Given the description of an element on the screen output the (x, y) to click on. 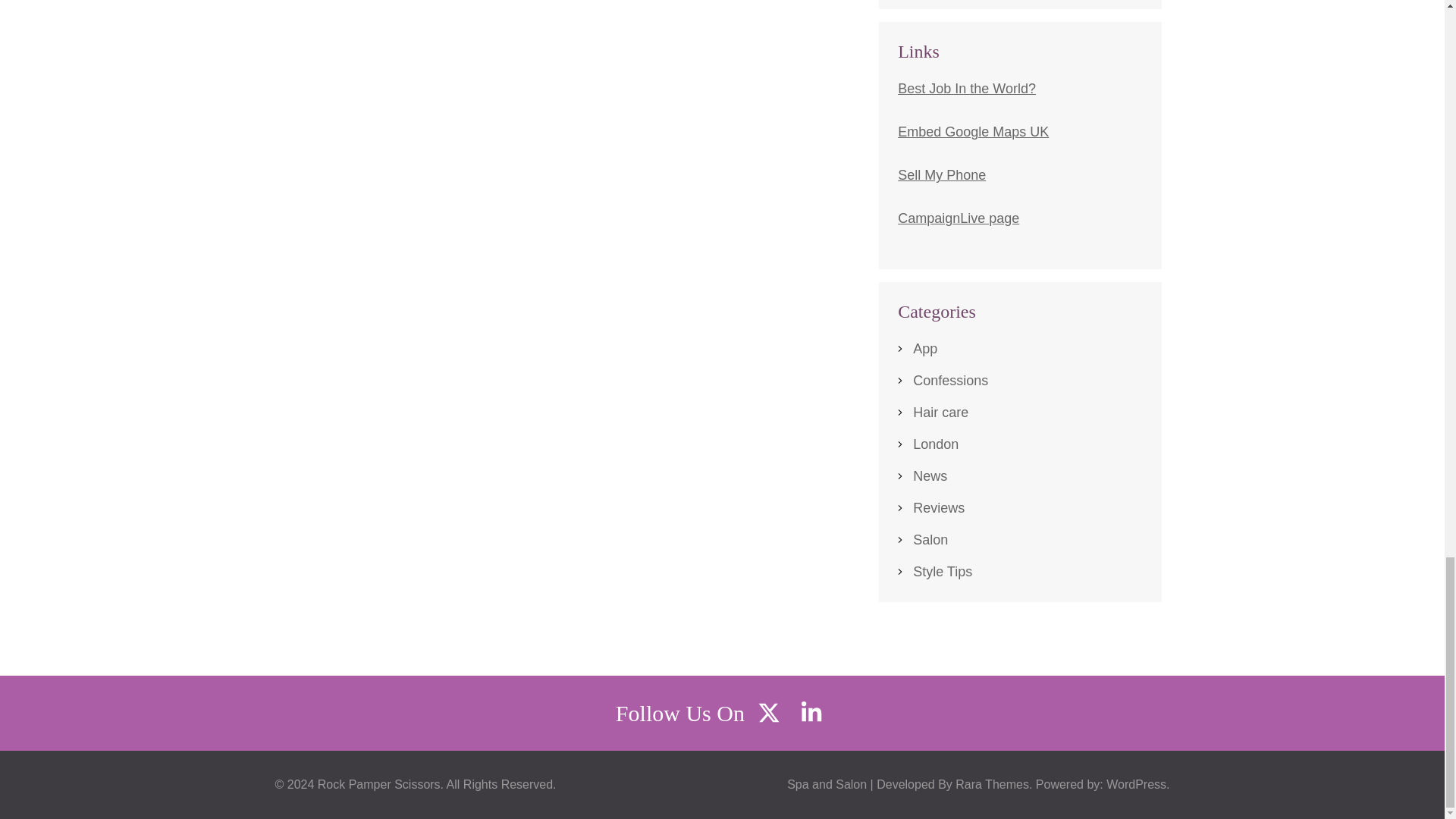
Sell My Phone (941, 174)
Embed Google Maps UK (973, 131)
Best Job In the World? (966, 88)
